Given the description of an element on the screen output the (x, y) to click on. 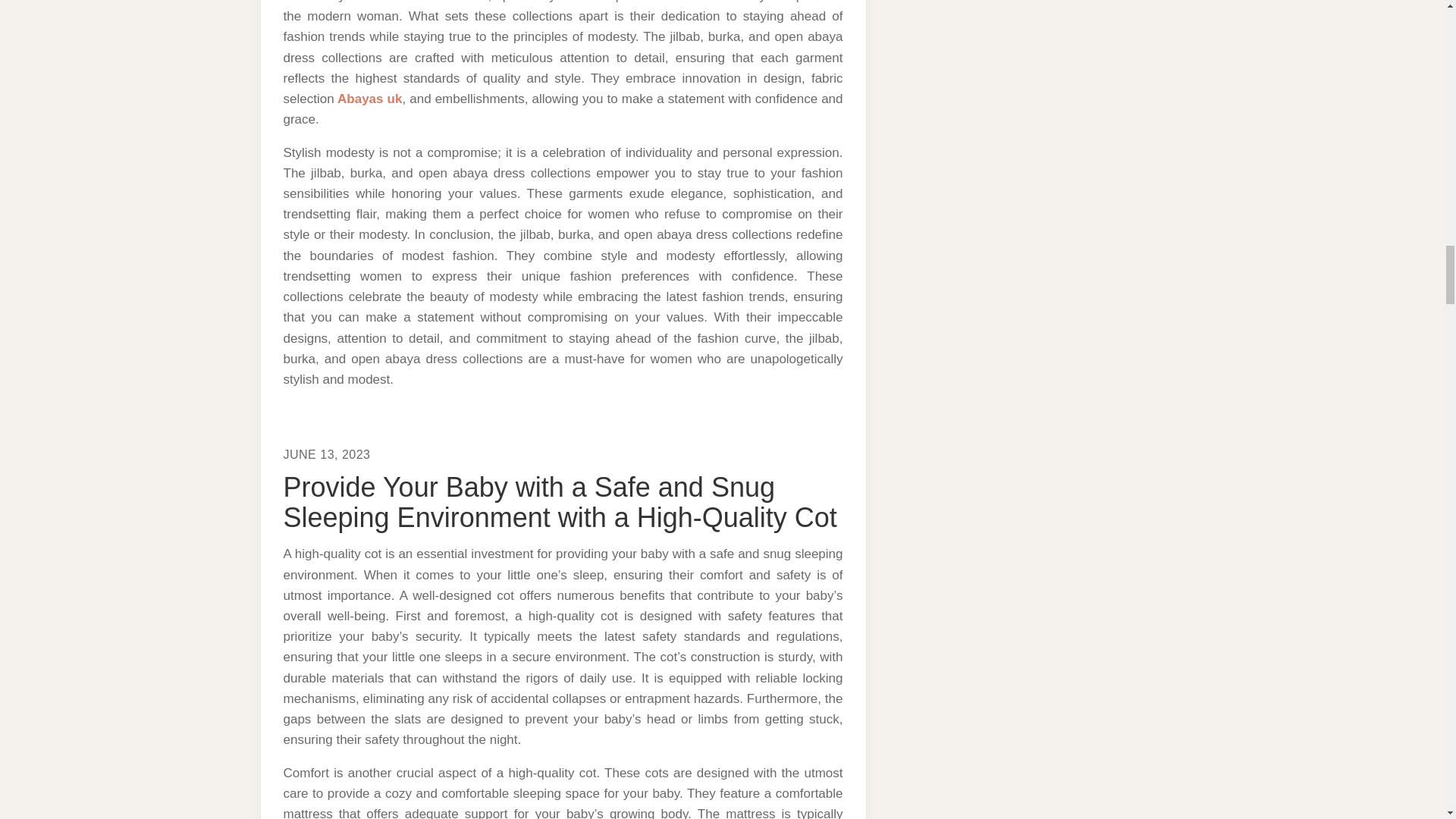
JUNE 13, 2023 (327, 454)
Abayas uk (369, 98)
